Given the description of an element on the screen output the (x, y) to click on. 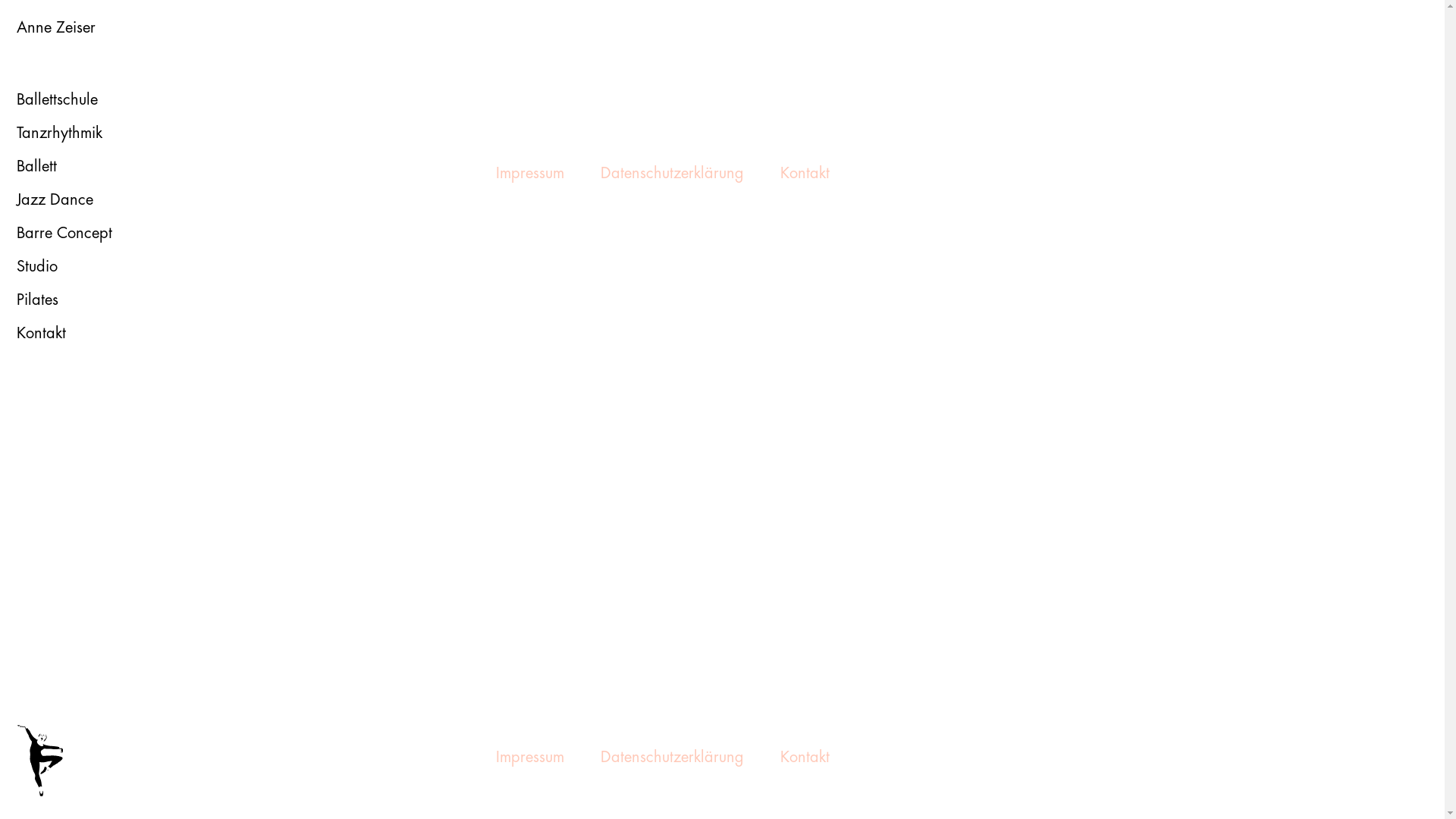
Tanzrhythmik Element type: text (59, 133)
Pilates Element type: text (37, 299)
Jazz Dance Element type: text (54, 199)
Impressum Element type: text (529, 757)
Kontakt Element type: text (804, 757)
Anne Zeiser Element type: text (55, 27)
Kontakt Element type: text (40, 333)
Barre Concept Element type: text (64, 233)
Studio Element type: text (36, 266)
Kontakt Element type: text (804, 173)
Impressum Element type: text (529, 173)
Ballettschule Element type: text (56, 99)
Ballett Element type: text (36, 166)
